Given the description of an element on the screen output the (x, y) to click on. 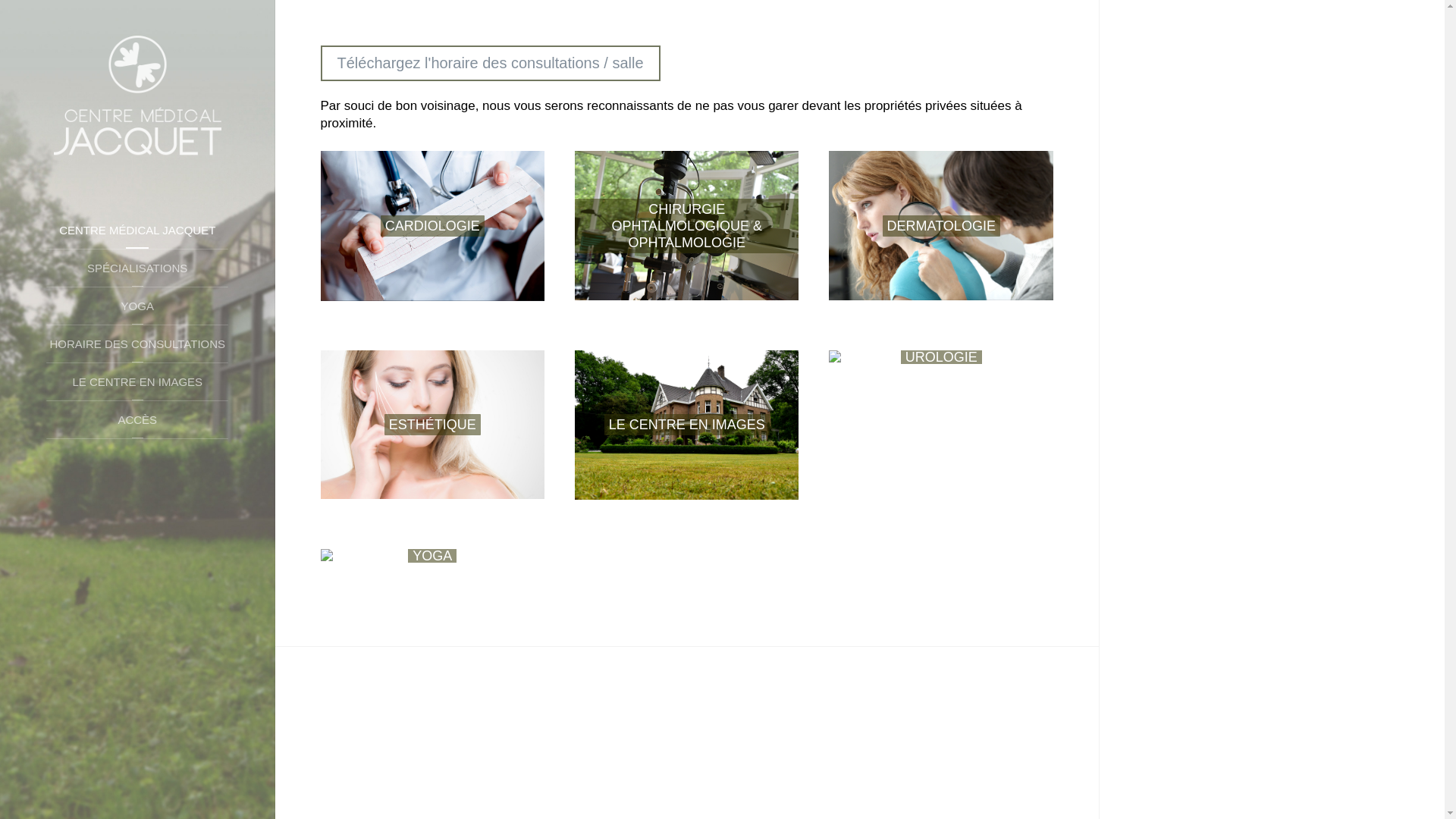
CARDIOLOGIE Element type: text (431, 225)
LE CENTRE EN IMAGES Element type: text (686, 424)
LE CENTRE EN IMAGES Element type: text (137, 382)
UROLOGIE Element type: text (940, 357)
HORAIRE DES CONSULTATIONS Element type: text (137, 344)
DERMATOLOGIE Element type: text (940, 225)
CHIRURGIE OPHTALMOLOGIQUE & OPHTALMOLOGIE Element type: text (686, 225)
YOGA Element type: text (137, 306)
YOGA Element type: text (431, 555)
